Given the description of an element on the screen output the (x, y) to click on. 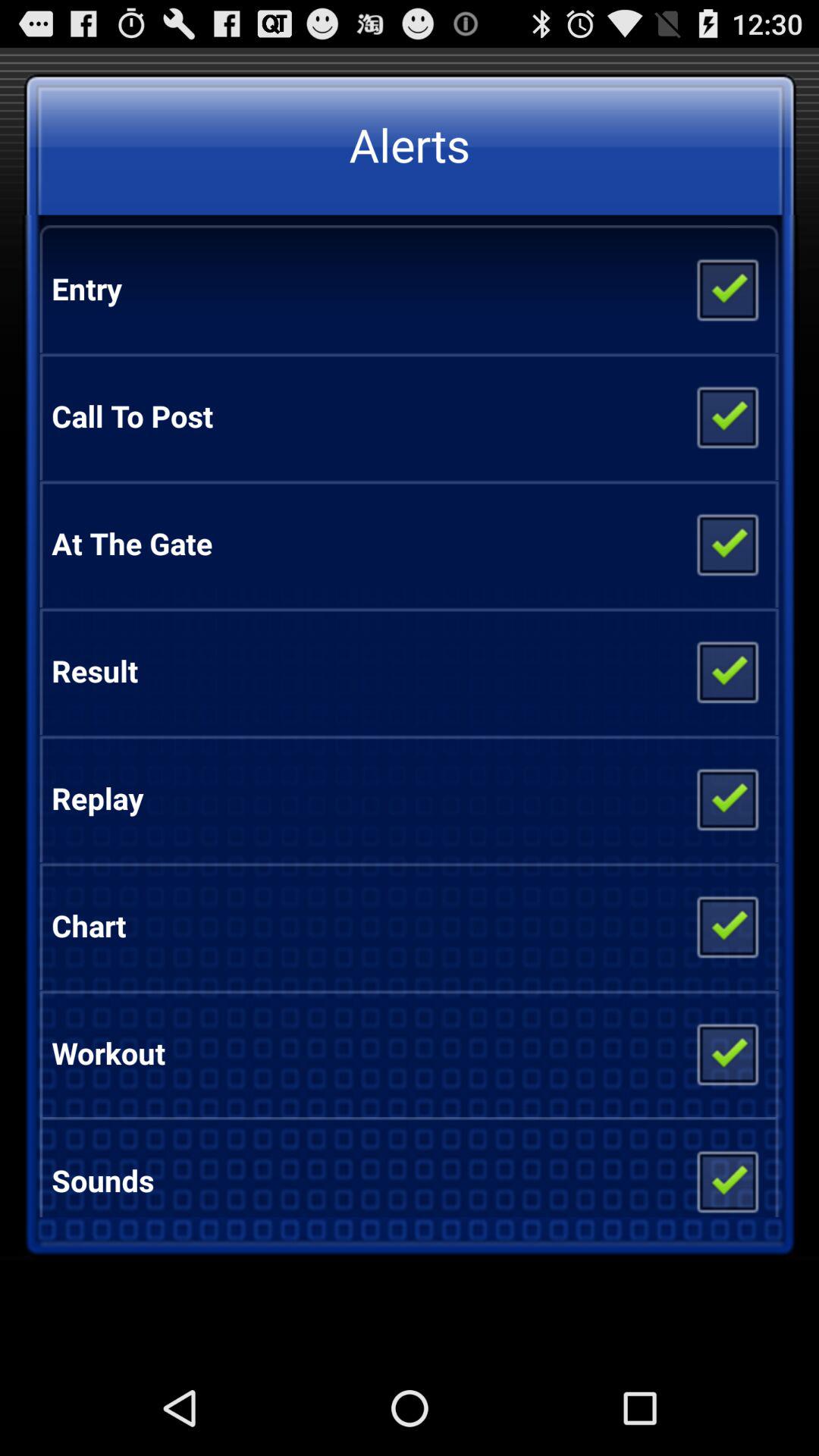
turn on alerts at the gate (726, 543)
